Given the description of an element on the screen output the (x, y) to click on. 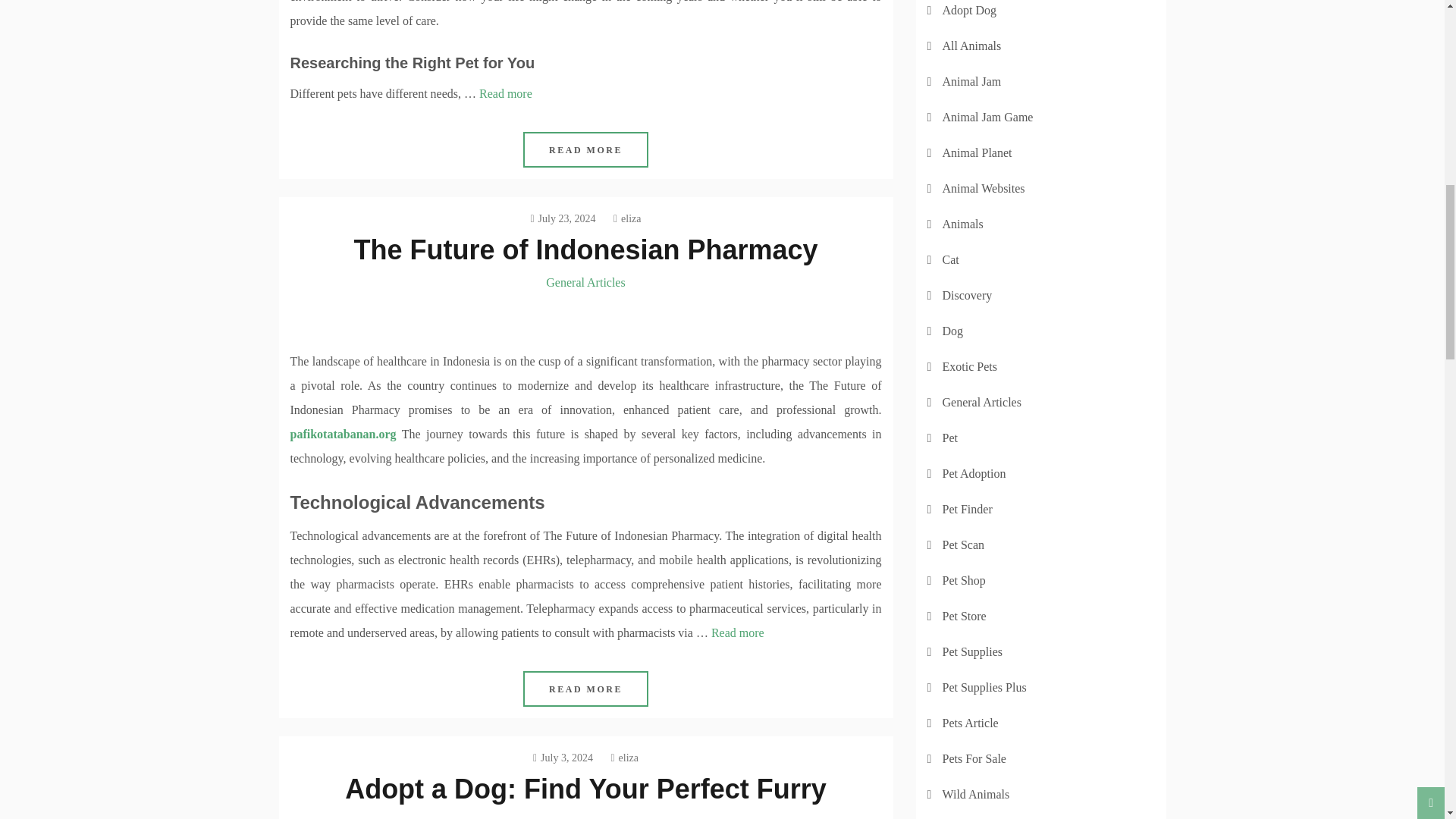
July 3, 2024 (562, 757)
eliza (627, 218)
Read more (505, 92)
The Future of Indonesian Pharmacy (584, 249)
eliza (624, 757)
READ MORE (584, 149)
Adopt a Dog: Find Your Perfect Furry Companion (586, 796)
pafikotatabanan.org (342, 433)
July 23, 2024 (562, 218)
Read more (737, 632)
